Given the description of an element on the screen output the (x, y) to click on. 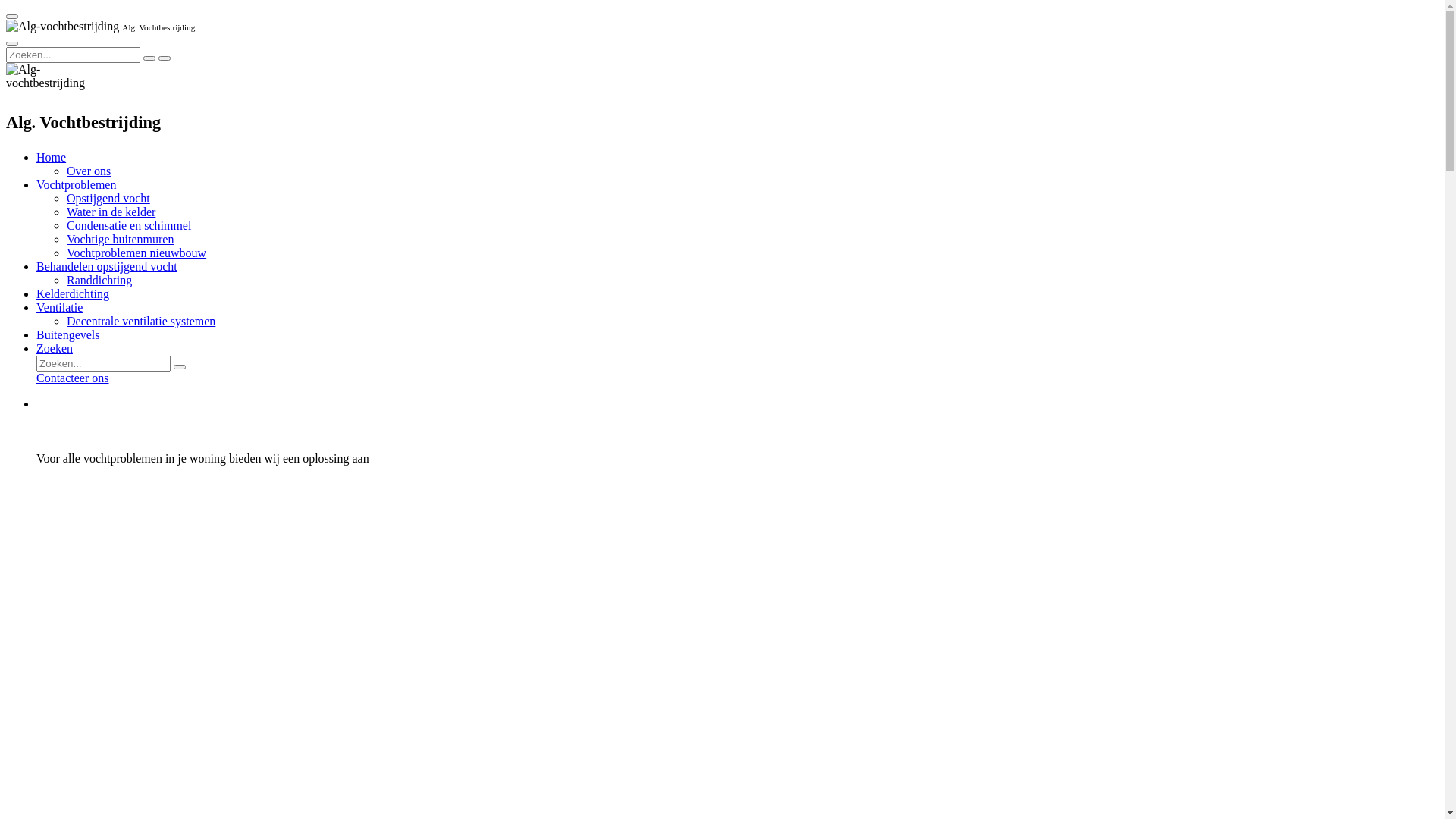
Alg-vochtbestrijding Element type: hover (62, 26)
Zoeken Element type: text (54, 348)
Kelderdichting Element type: text (72, 293)
Behandelen opstijgend vocht Element type: text (106, 266)
Decentrale ventilatie systemen Element type: text (140, 320)
Randdichting Element type: text (98, 279)
Home Element type: text (50, 156)
Condensatie en schimmel Element type: text (128, 225)
Vochtproblemen Element type: text (76, 184)
Vochtproblemen nieuwbouw Element type: text (136, 252)
Over ons Element type: text (88, 170)
Alg-vochtbestrijding Element type: hover (55, 76)
Vochtige buitenmuren Element type: text (119, 238)
Ventilatie Element type: text (59, 307)
Water in de kelder Element type: text (110, 211)
Contacteer ons Element type: text (737, 378)
Opstijgend vocht Element type: text (108, 197)
Buitengevels Element type: text (68, 334)
